Given the description of an element on the screen output the (x, y) to click on. 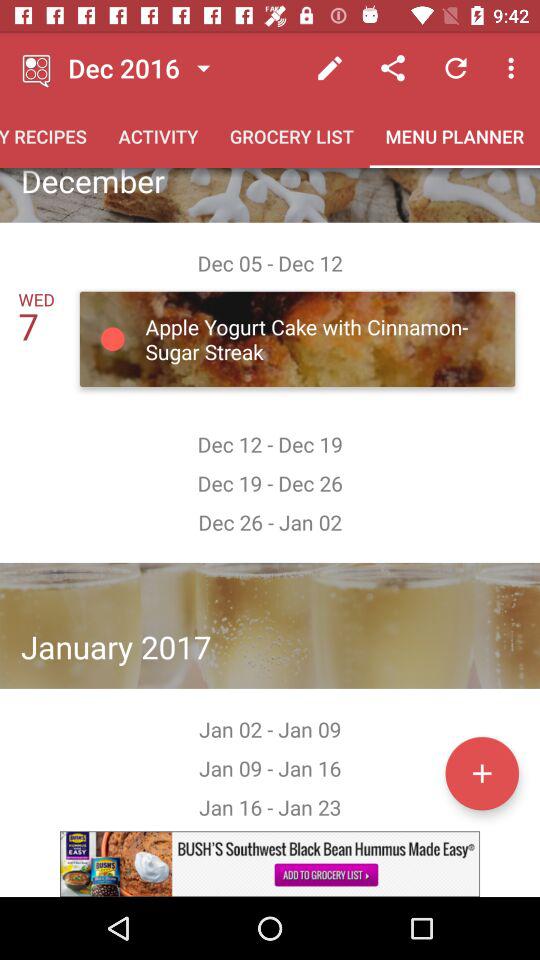
tap to add menu (482, 773)
